Given the description of an element on the screen output the (x, y) to click on. 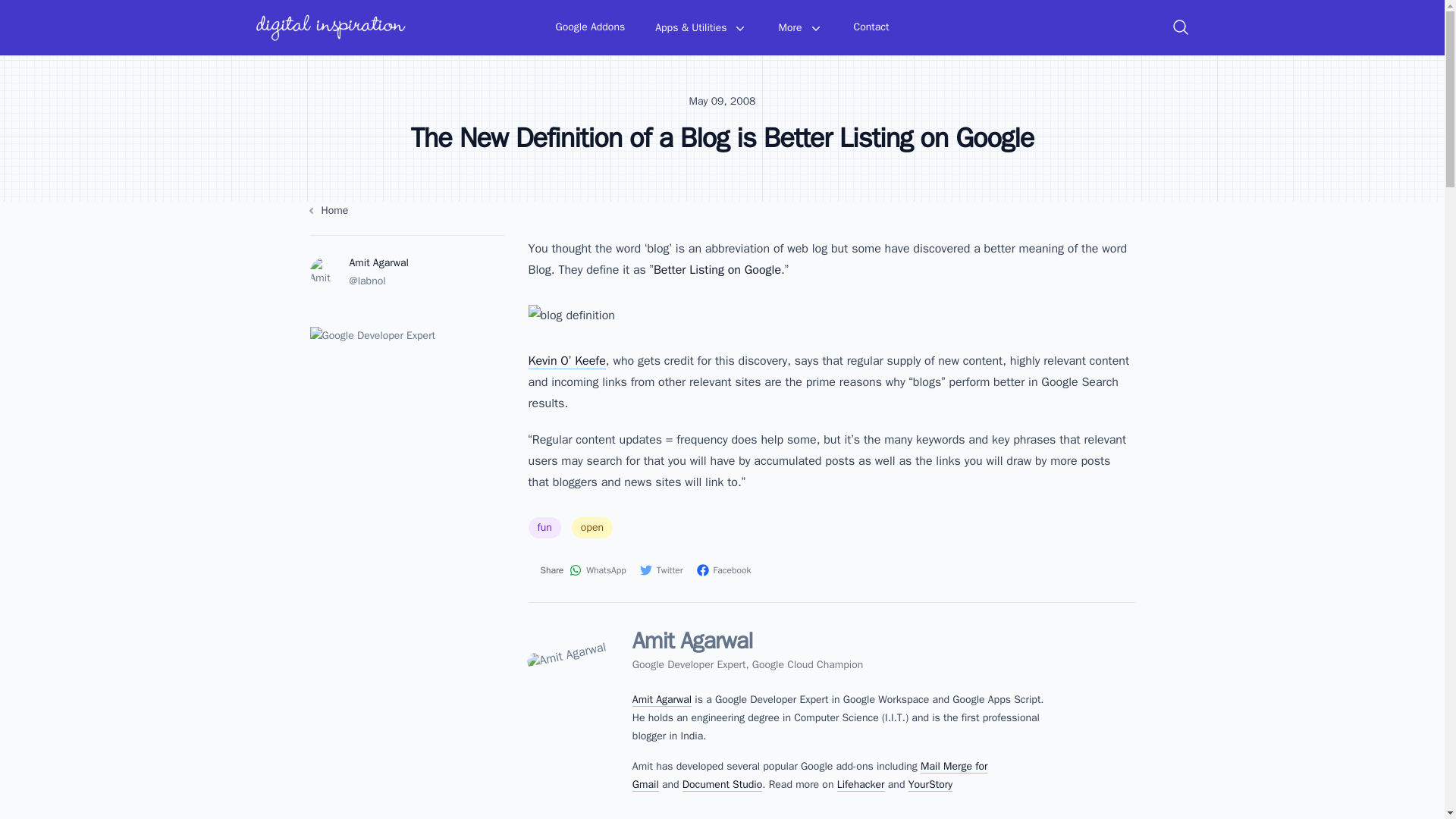
Digital Inspiration (330, 27)
open (592, 527)
Share on Twitter (662, 570)
Document Studio (721, 784)
Google Addons (591, 27)
Amit Agarwal (661, 699)
Twitter (662, 570)
Mail Merge for Gmail (809, 775)
Share on Facebook (724, 570)
fun (543, 527)
Lifehacker (861, 784)
WhatsApp (598, 570)
Contact (871, 27)
Home (405, 210)
Share on WhatsApp (598, 570)
